Given the description of an element on the screen output the (x, y) to click on. 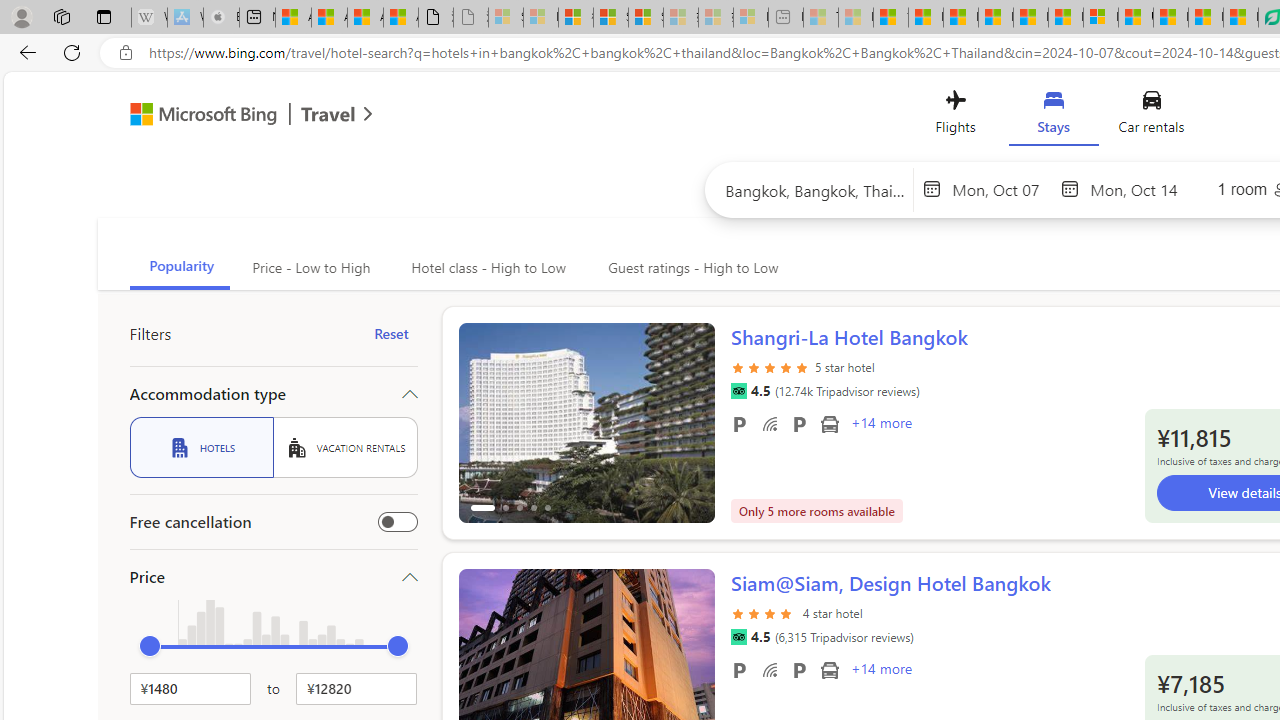
Price - Low to High (309, 268)
Car rentals (1150, 116)
Start Date (1001, 188)
Airport transportation (829, 669)
Microsoft Bing Travel (229, 116)
min  (149, 645)
Search hotels or place (815, 190)
Free WiFi (769, 669)
Sign in to your Microsoft account - Sleeping (506, 17)
